Given the description of an element on the screen output the (x, y) to click on. 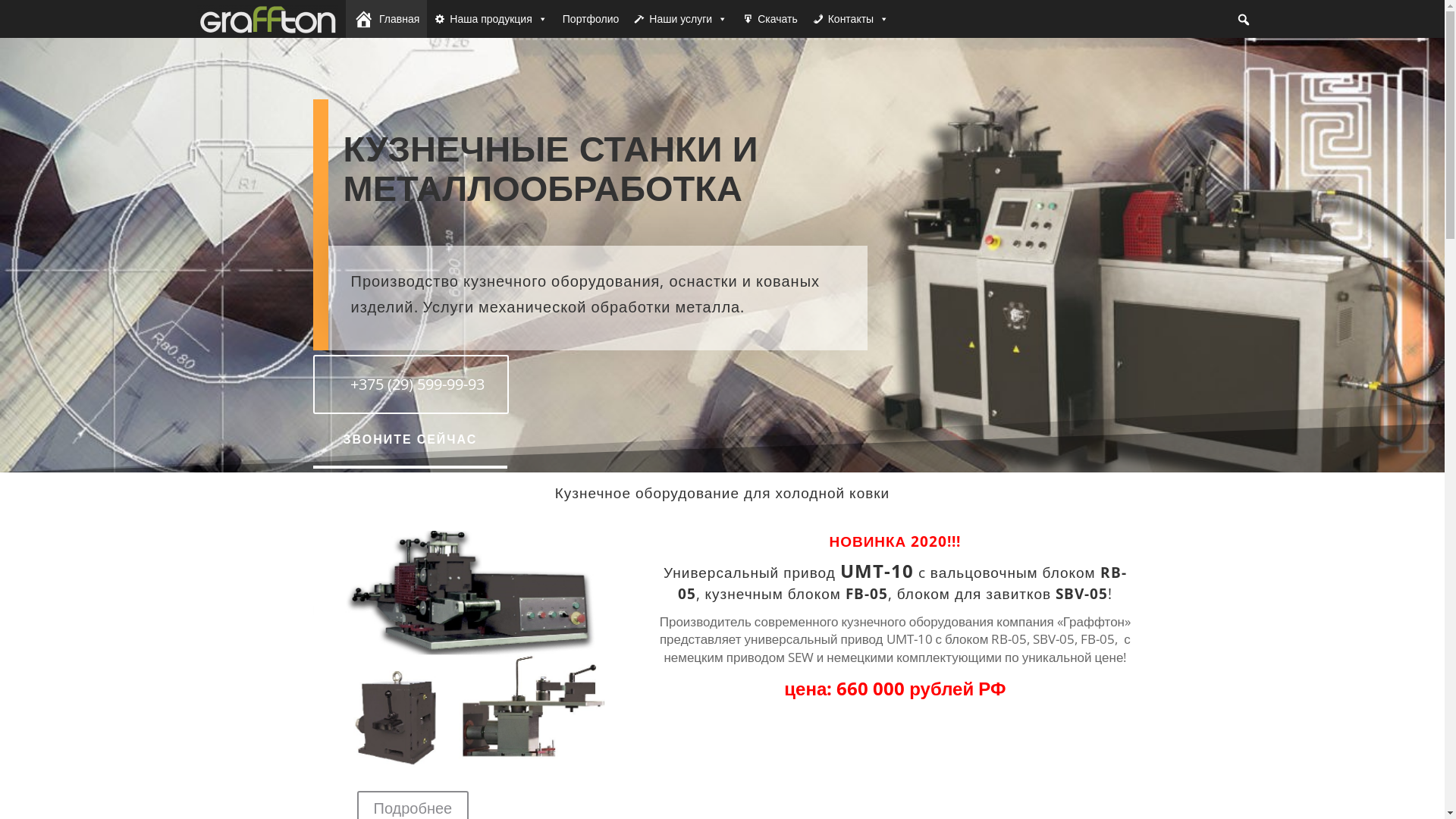
Search Element type: text (13, 9)
